Given the description of an element on the screen output the (x, y) to click on. 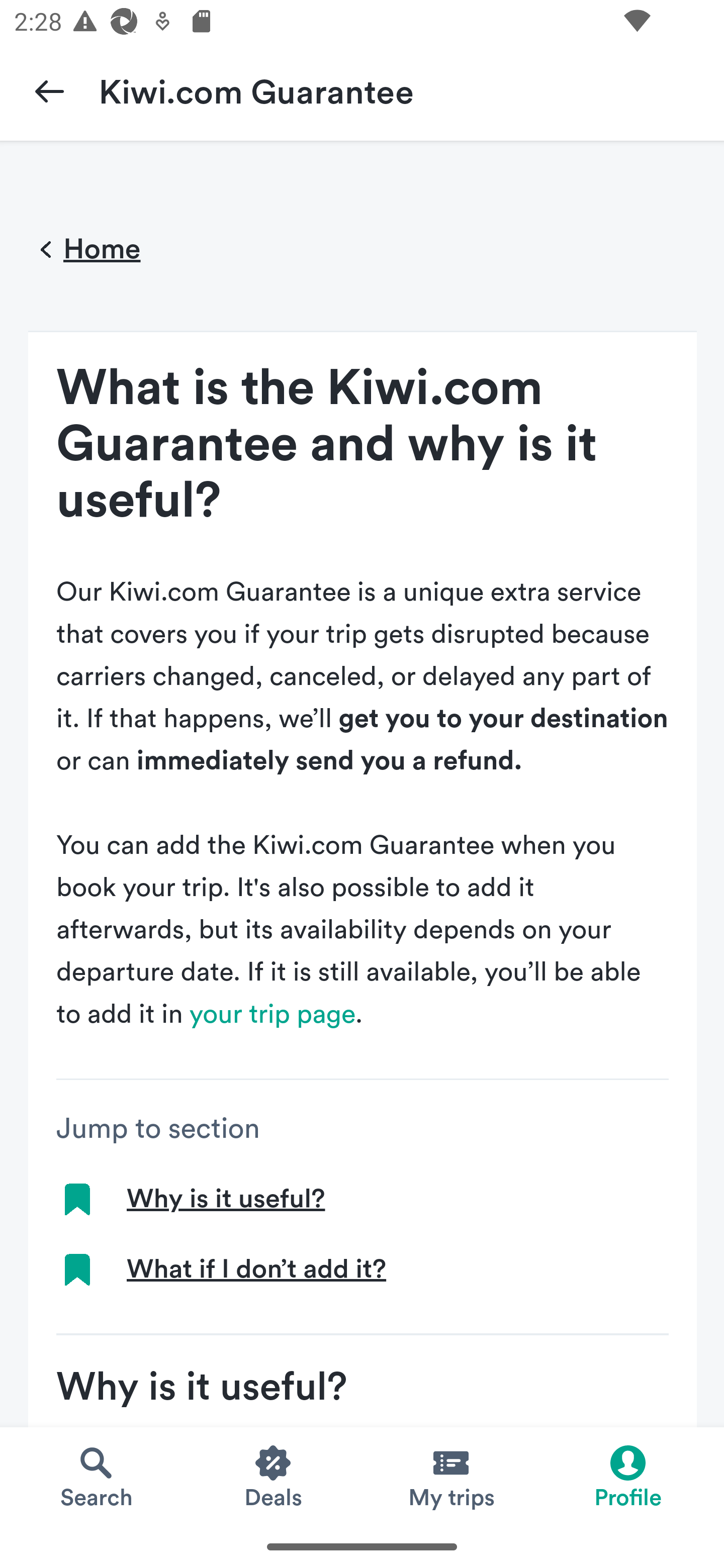
Navigate up (49, 90)
Home (84, 249)
your trip page (272, 1014)
Why is it useful? (225, 1199)
What if I don’t add it? (256, 1269)
Search (95, 1475)
Deals (273, 1475)
My trips (450, 1475)
